Given the description of an element on the screen output the (x, y) to click on. 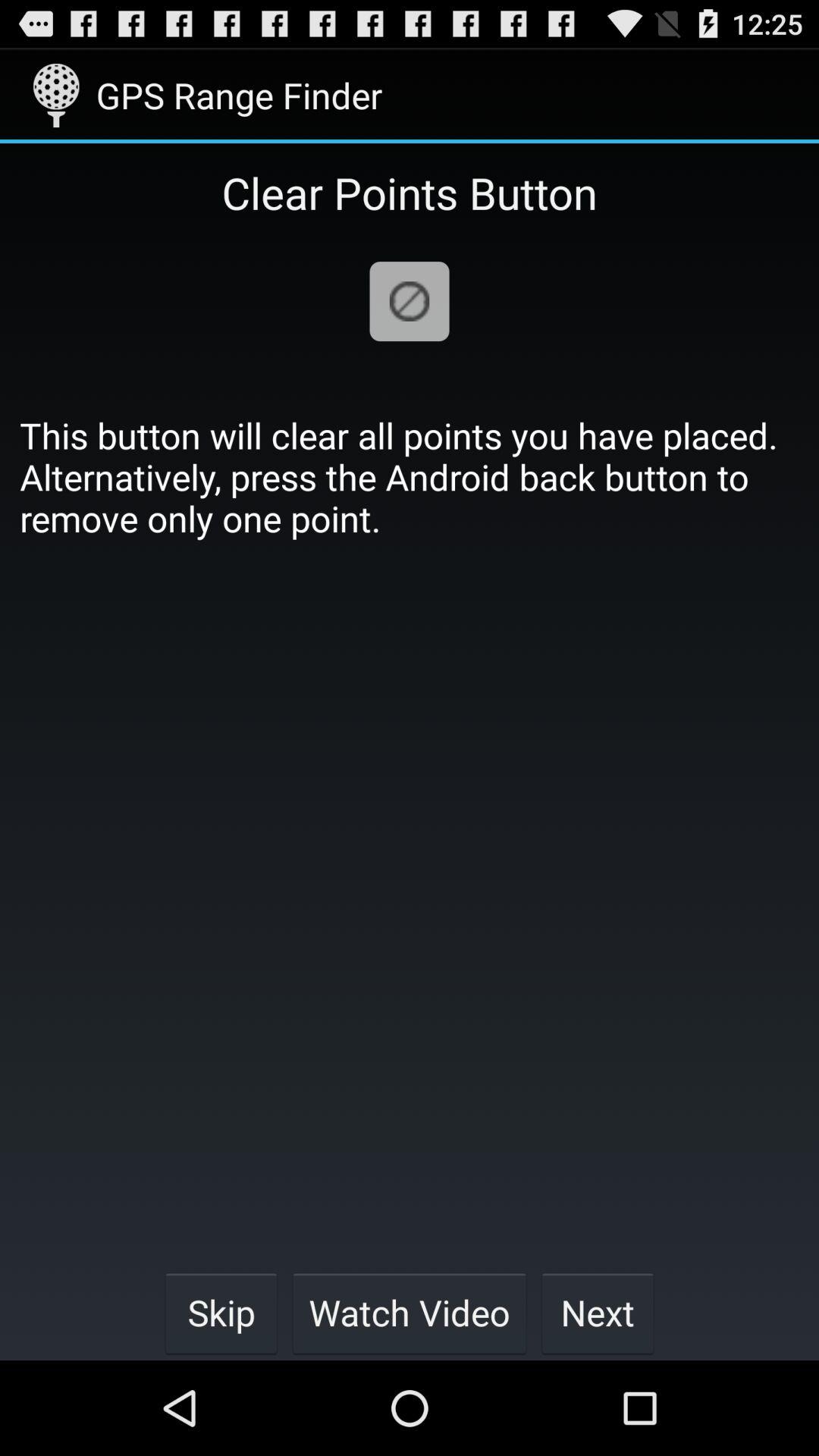
turn on the icon below this button will item (220, 1312)
